Given the description of an element on the screen output the (x, y) to click on. 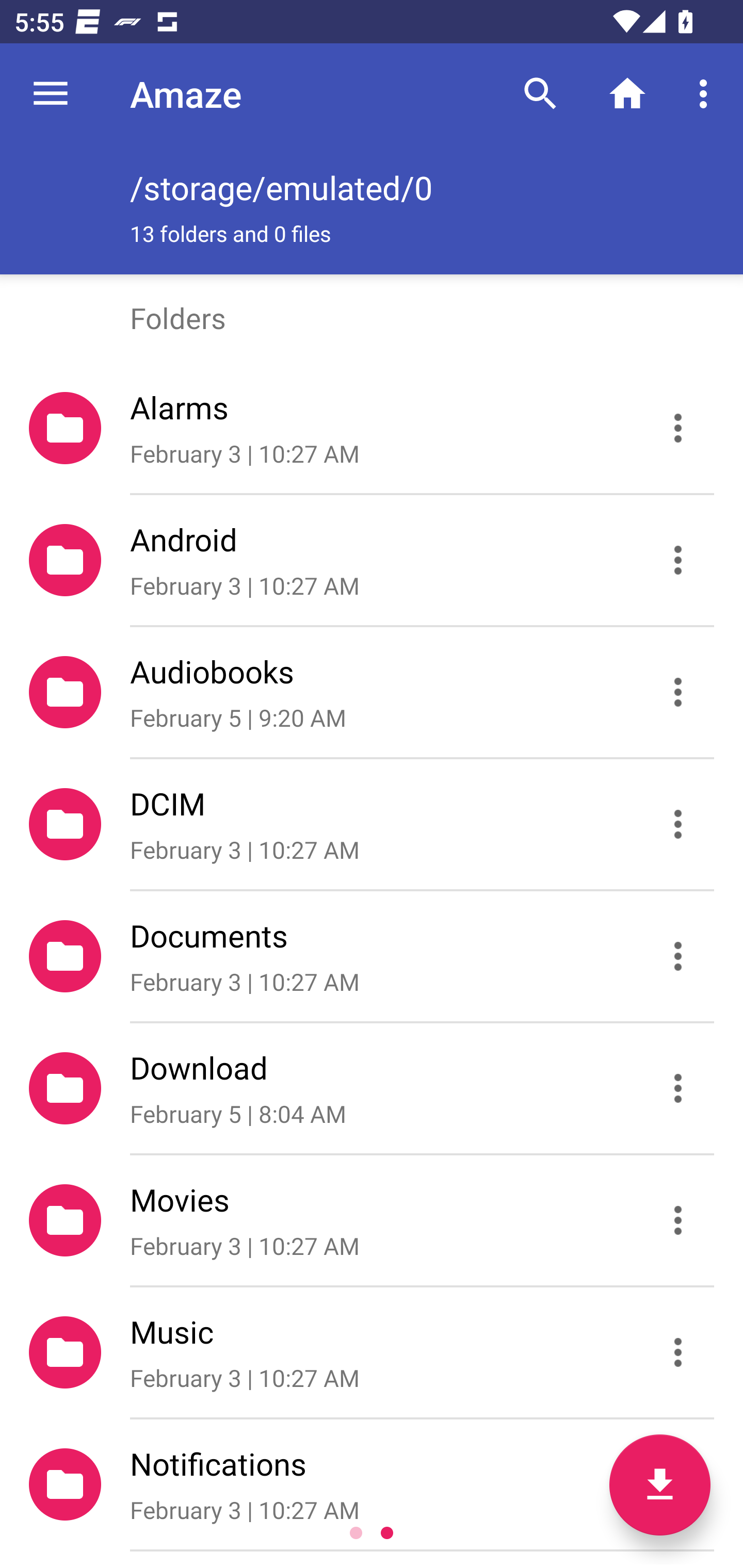
Navigate up (50, 93)
Search (540, 93)
Home (626, 93)
More options (706, 93)
Alarms February 3 | 10:27 AM (371, 427)
Android February 3 | 10:27 AM (371, 560)
Audiobooks February 5 | 9:20 AM (371, 692)
DCIM February 3 | 10:27 AM (371, 823)
Documents February 3 | 10:27 AM (371, 955)
Download February 5 | 8:04 AM (371, 1088)
Movies February 3 | 10:27 AM (371, 1220)
Music February 3 | 10:27 AM (371, 1352)
Notifications February 3 | 10:27 AM (371, 1484)
